Given the description of an element on the screen output the (x, y) to click on. 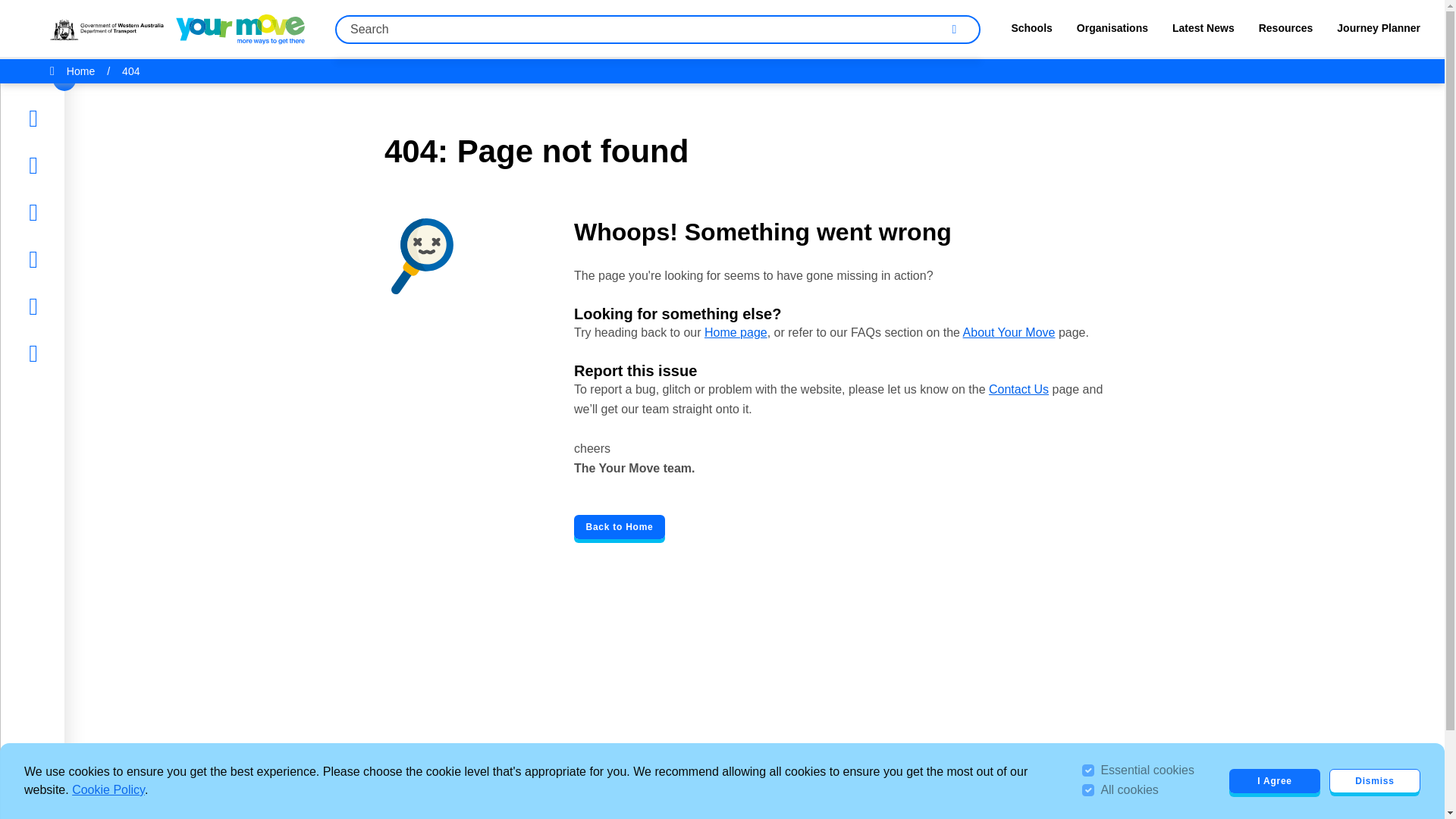
Resources (71, 259)
Home (59, 118)
Latest News (77, 211)
Organisations (1112, 31)
Search (955, 29)
Cookie Policy (107, 789)
toggle side navigation (63, 78)
Latest News (1203, 31)
About Your Move (1008, 332)
